Given the description of an element on the screen output the (x, y) to click on. 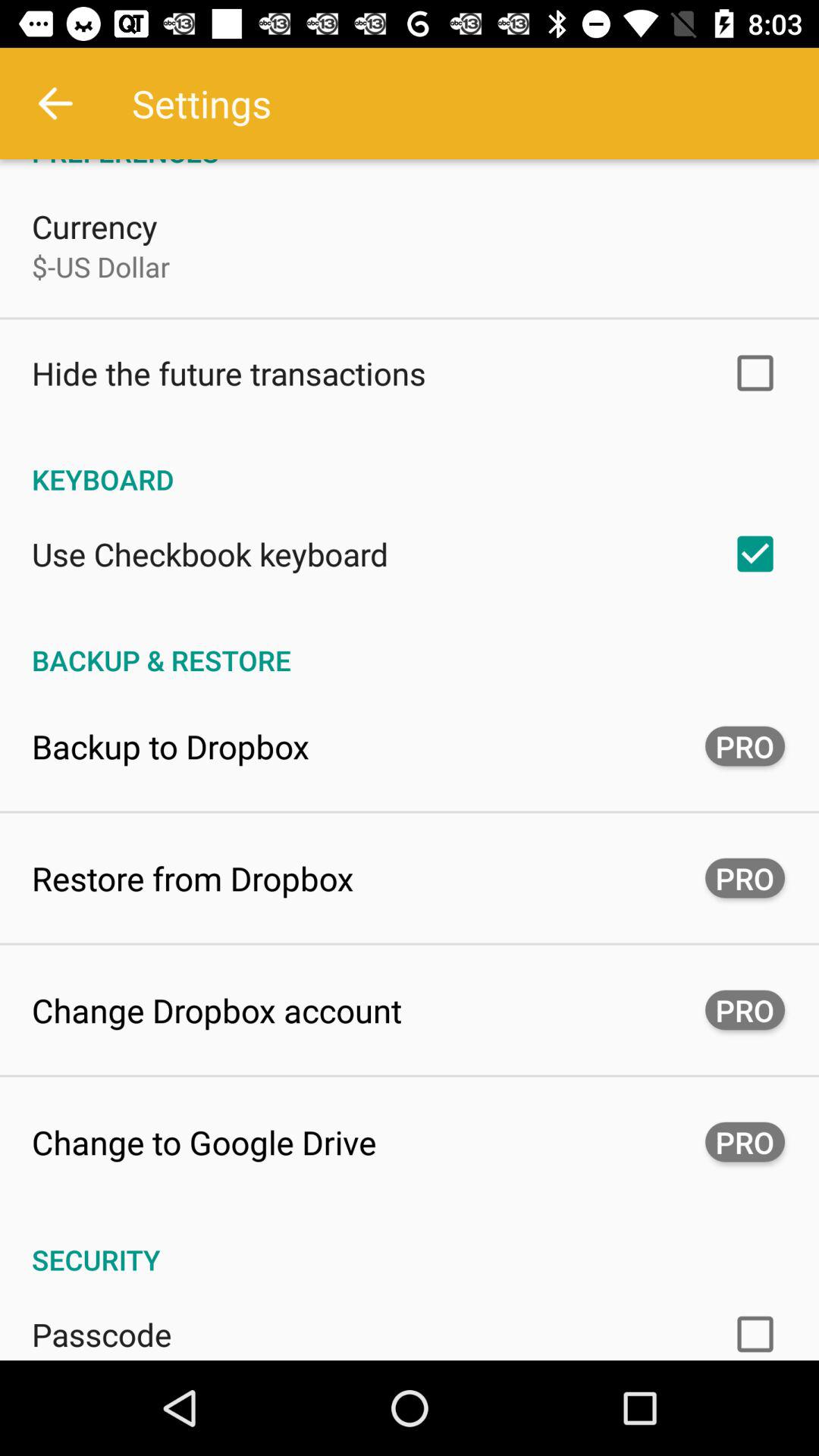
flip until the change dropbox account icon (216, 1009)
